Given the description of an element on the screen output the (x, y) to click on. 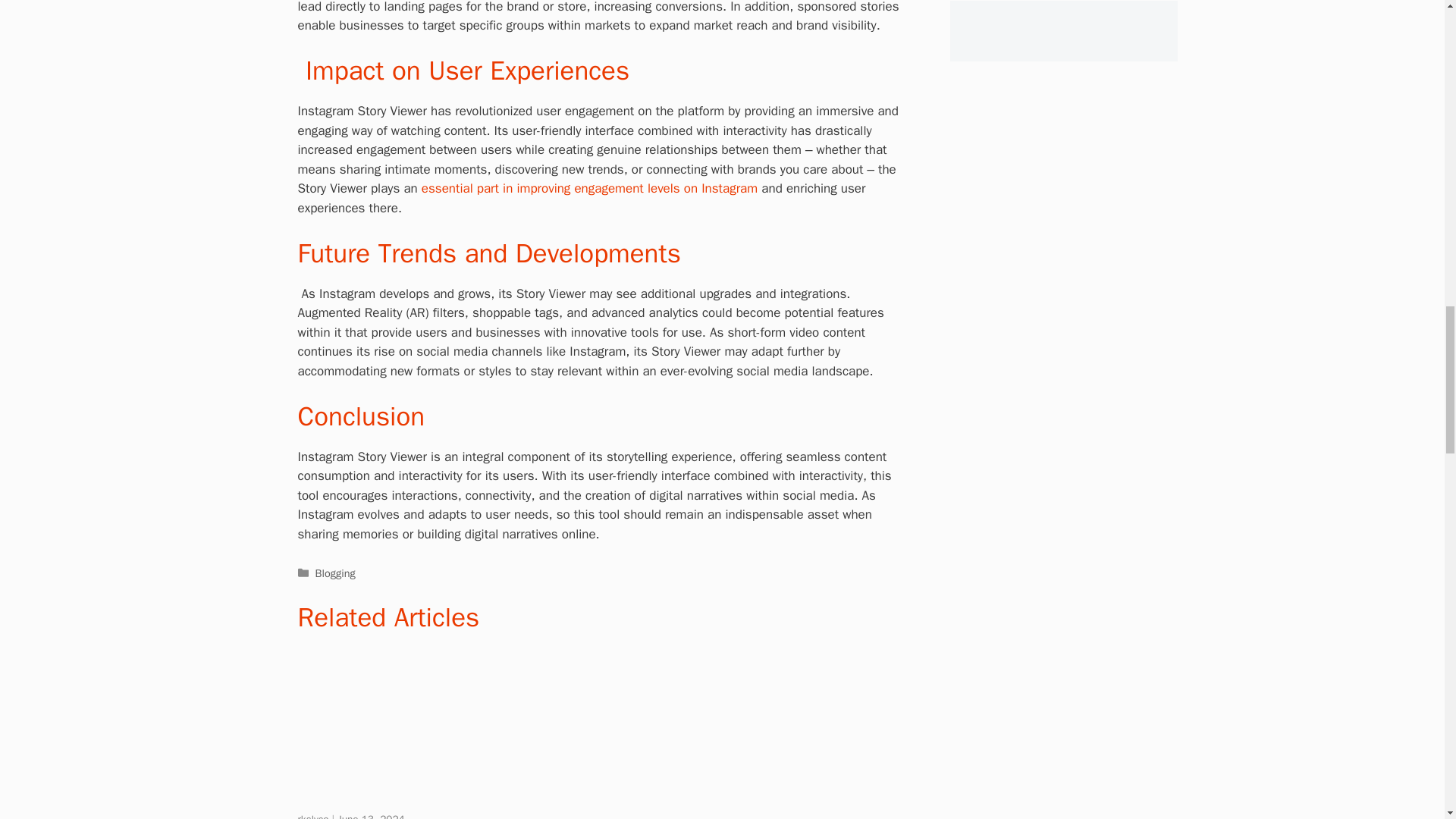
June 13, 2024 (370, 816)
Blogging (335, 572)
rkslyco (314, 816)
essential part in improving engagement levels on Instagram (587, 188)
6:51 pm (370, 816)
View all posts by rkslyco (314, 816)
